Given the description of an element on the screen output the (x, y) to click on. 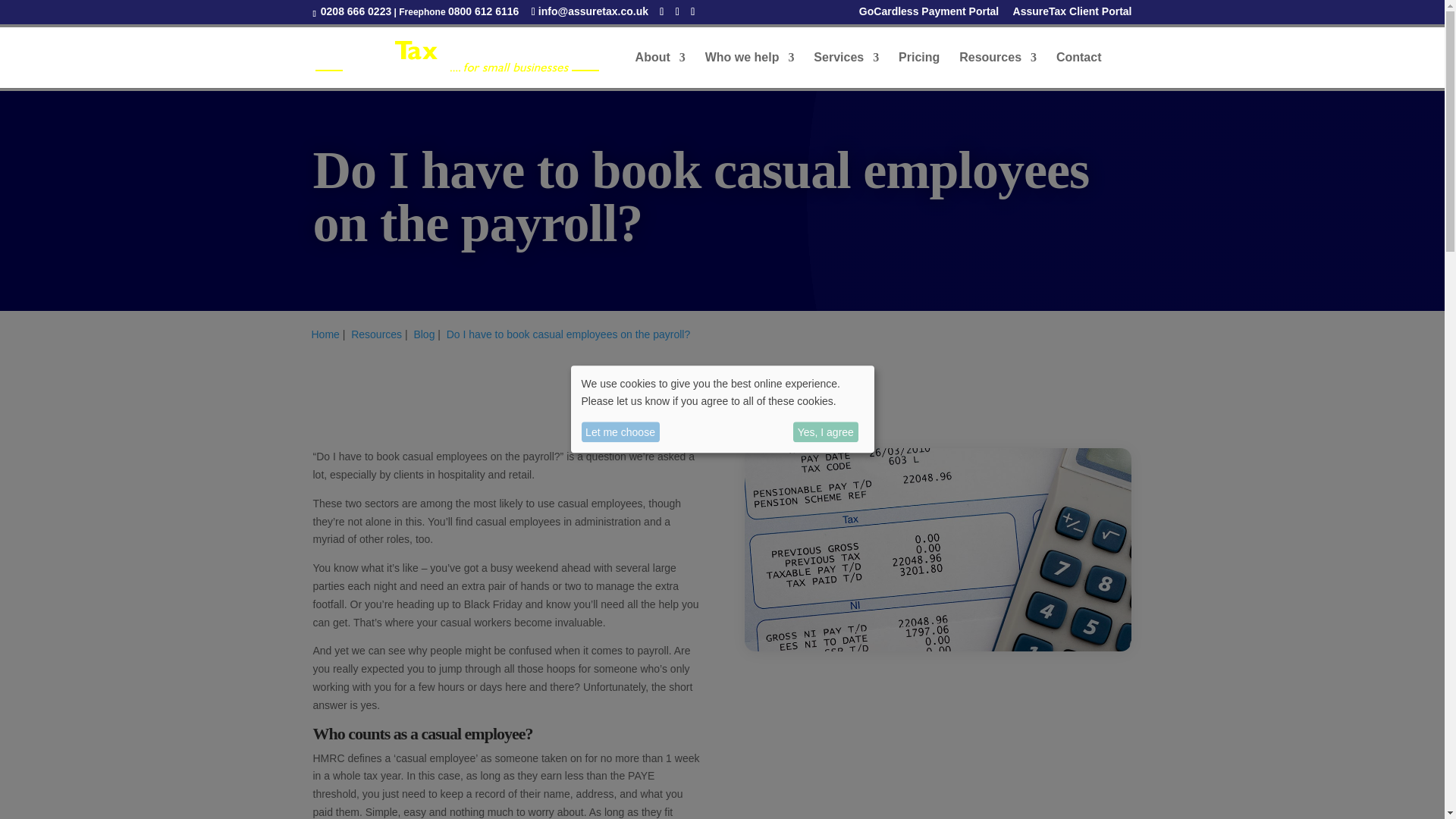
0800 612 6116 (483, 10)
payroll (937, 549)
0208 666 0223 (354, 10)
